Given the description of an element on the screen output the (x, y) to click on. 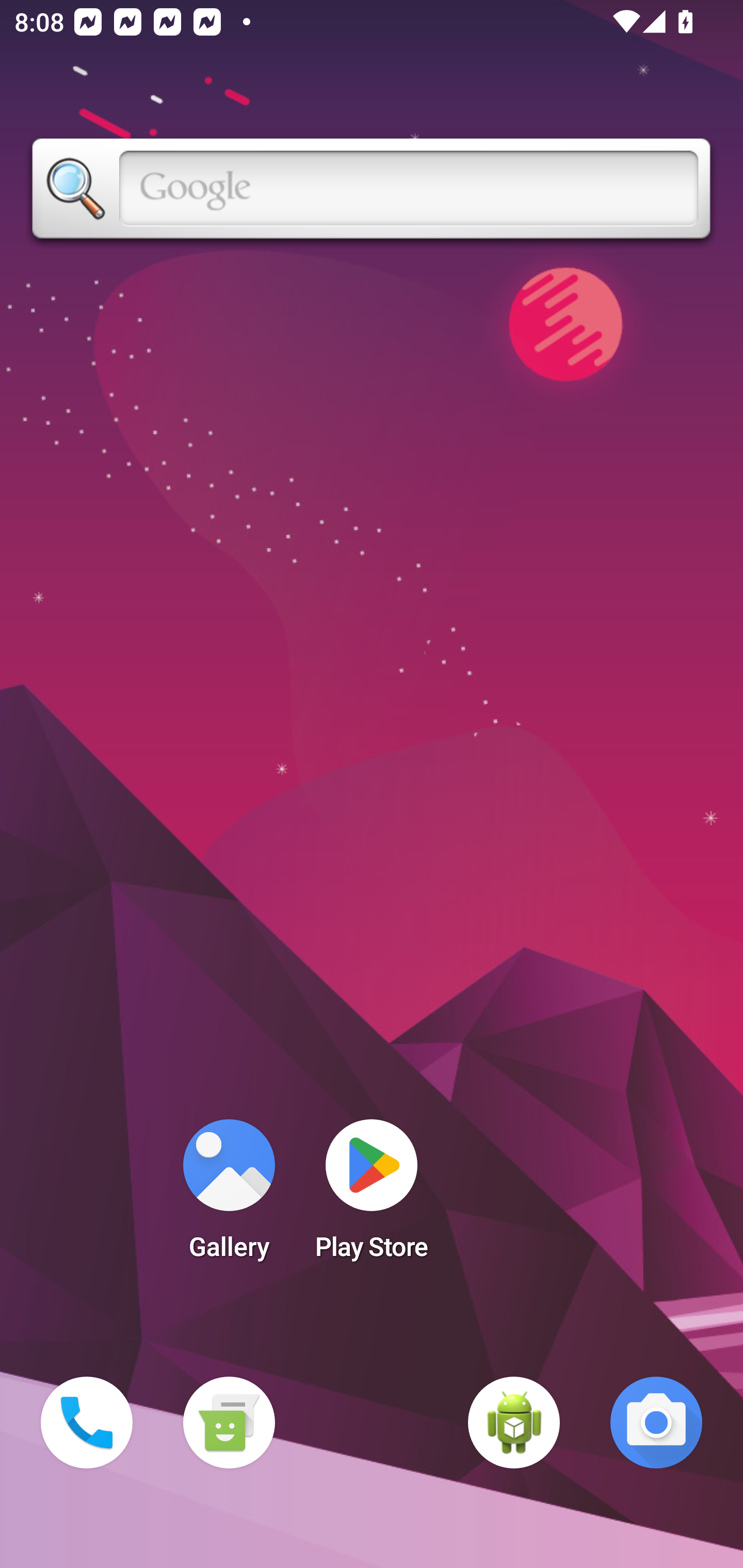
Gallery (228, 1195)
Play Store (371, 1195)
Phone (86, 1422)
Messaging (228, 1422)
WebView Browser Tester (513, 1422)
Camera (656, 1422)
